Given the description of an element on the screen output the (x, y) to click on. 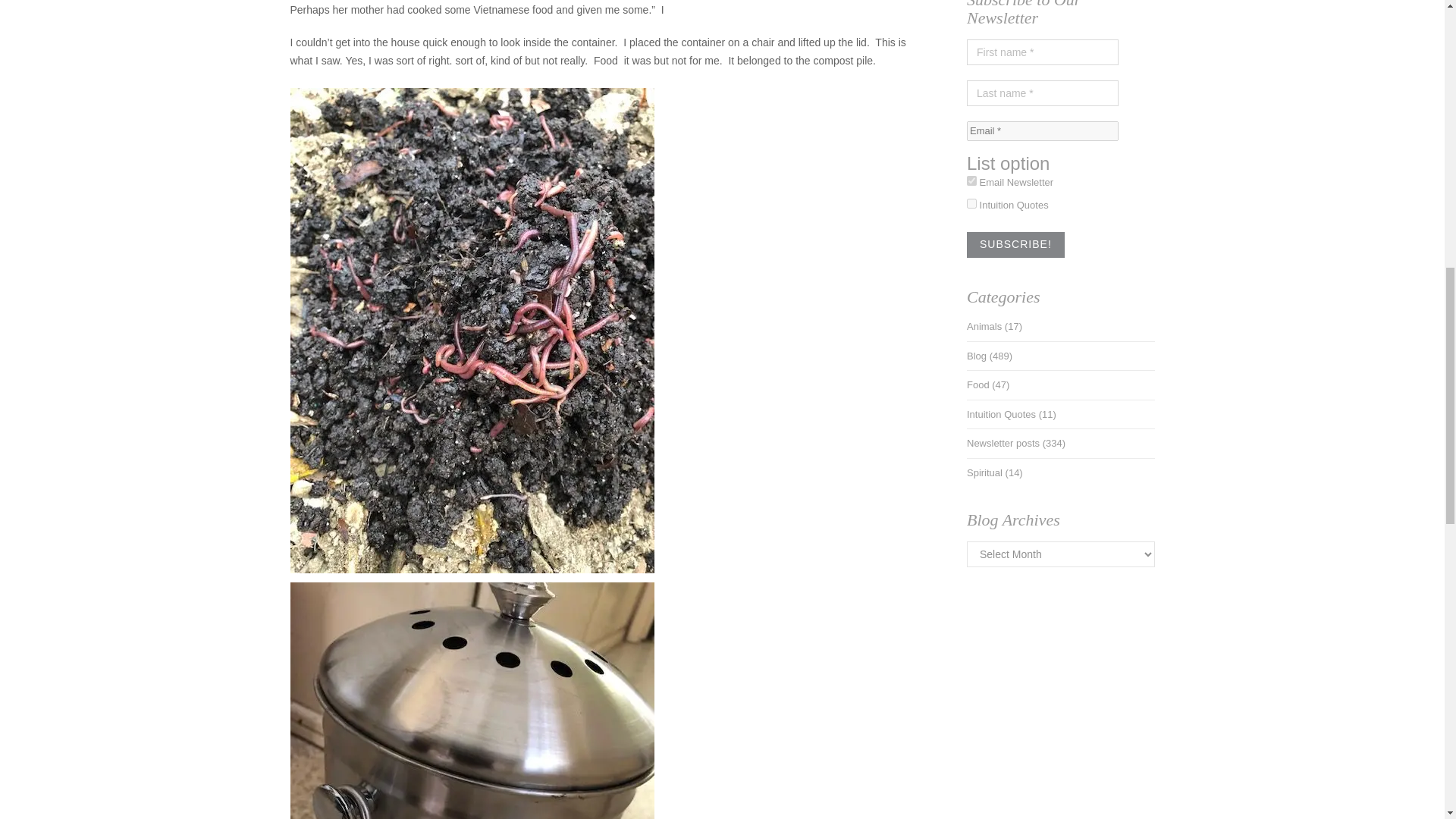
First name (1042, 52)
Food (978, 384)
Subscribe! (1015, 244)
Newsletter posts (1002, 442)
Intuition Quotes (1000, 414)
4 (971, 203)
Animals (983, 326)
Spiritual (984, 472)
Blog (976, 355)
Last name (1042, 93)
Email (1042, 130)
3 (971, 180)
Subscribe! (1015, 244)
